Given the description of an element on the screen output the (x, y) to click on. 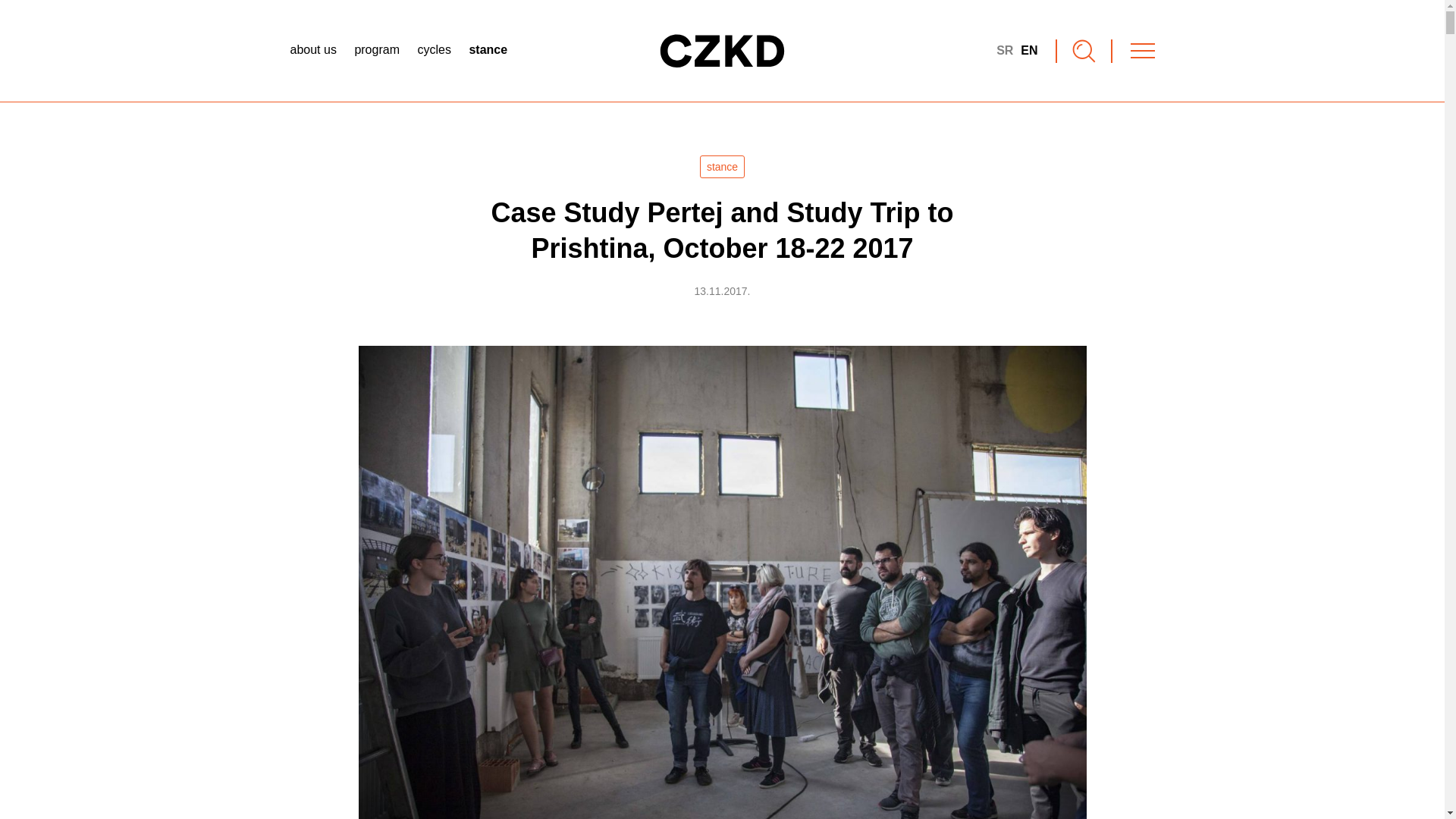
Menu (1141, 50)
Search (1083, 51)
about us (312, 49)
stance (722, 166)
cycles (432, 49)
stance (487, 49)
program (375, 49)
